Given the description of an element on the screen output the (x, y) to click on. 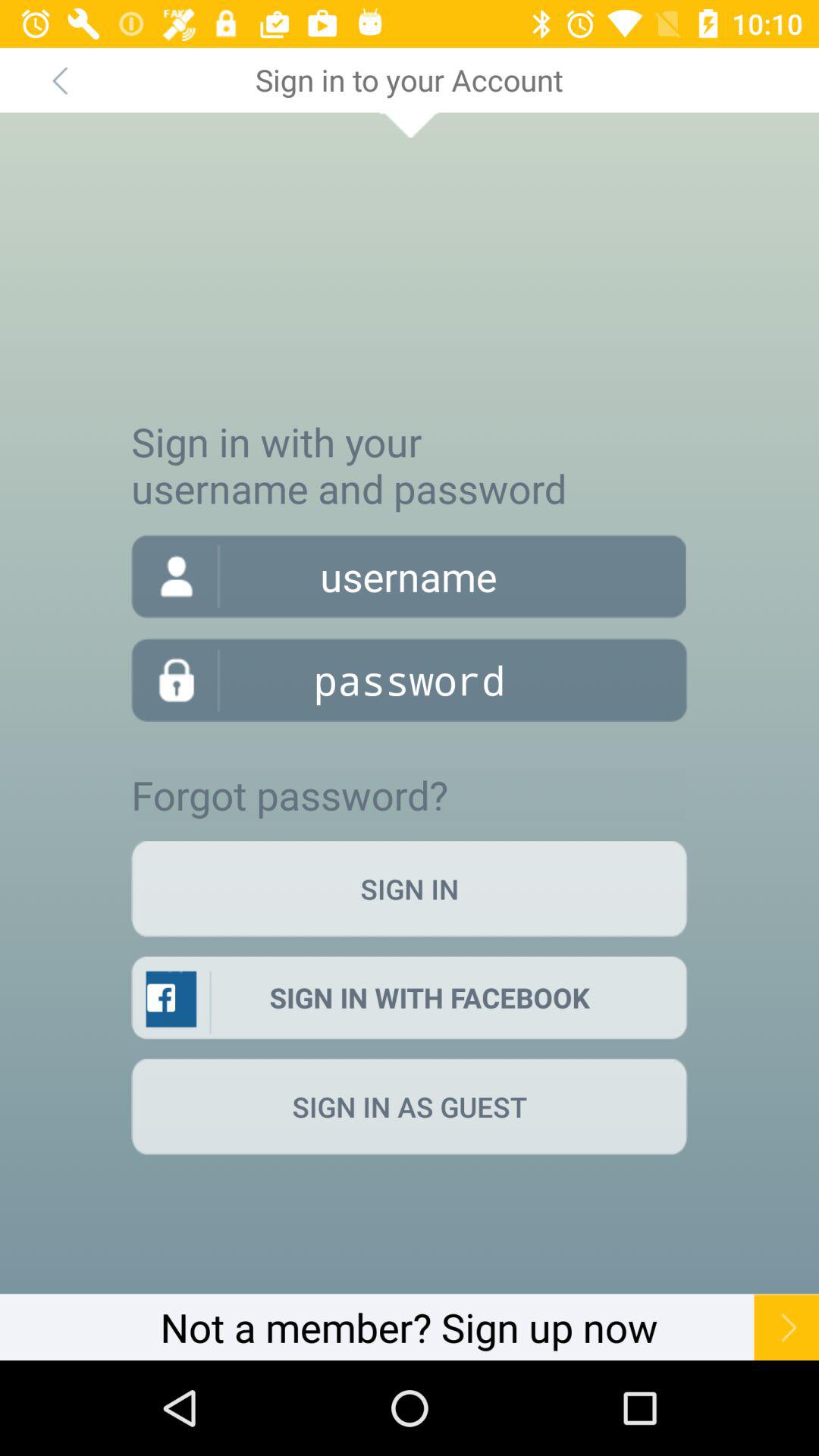
flip until the forgot password? (289, 794)
